Given the description of an element on the screen output the (x, y) to click on. 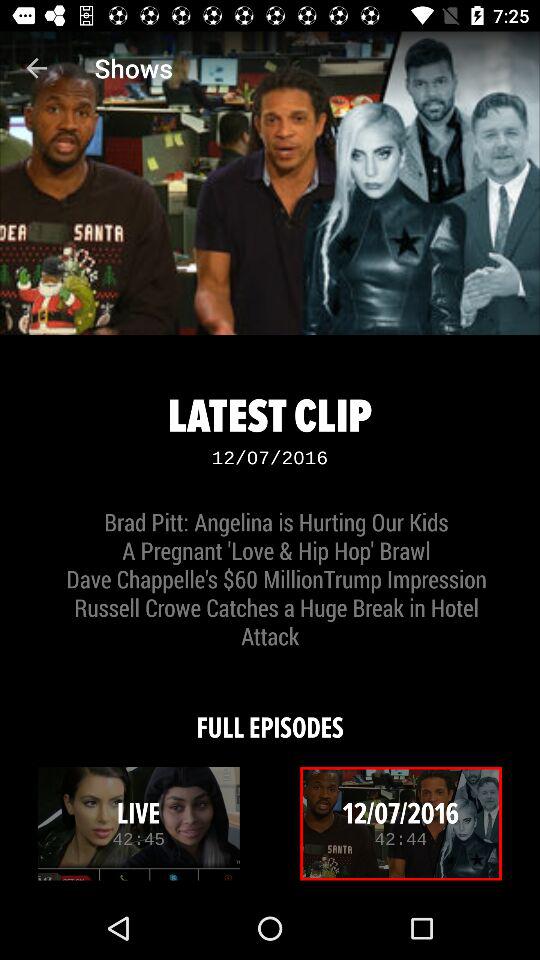
jump to the full episodes (270, 713)
